Given the description of an element on the screen output the (x, y) to click on. 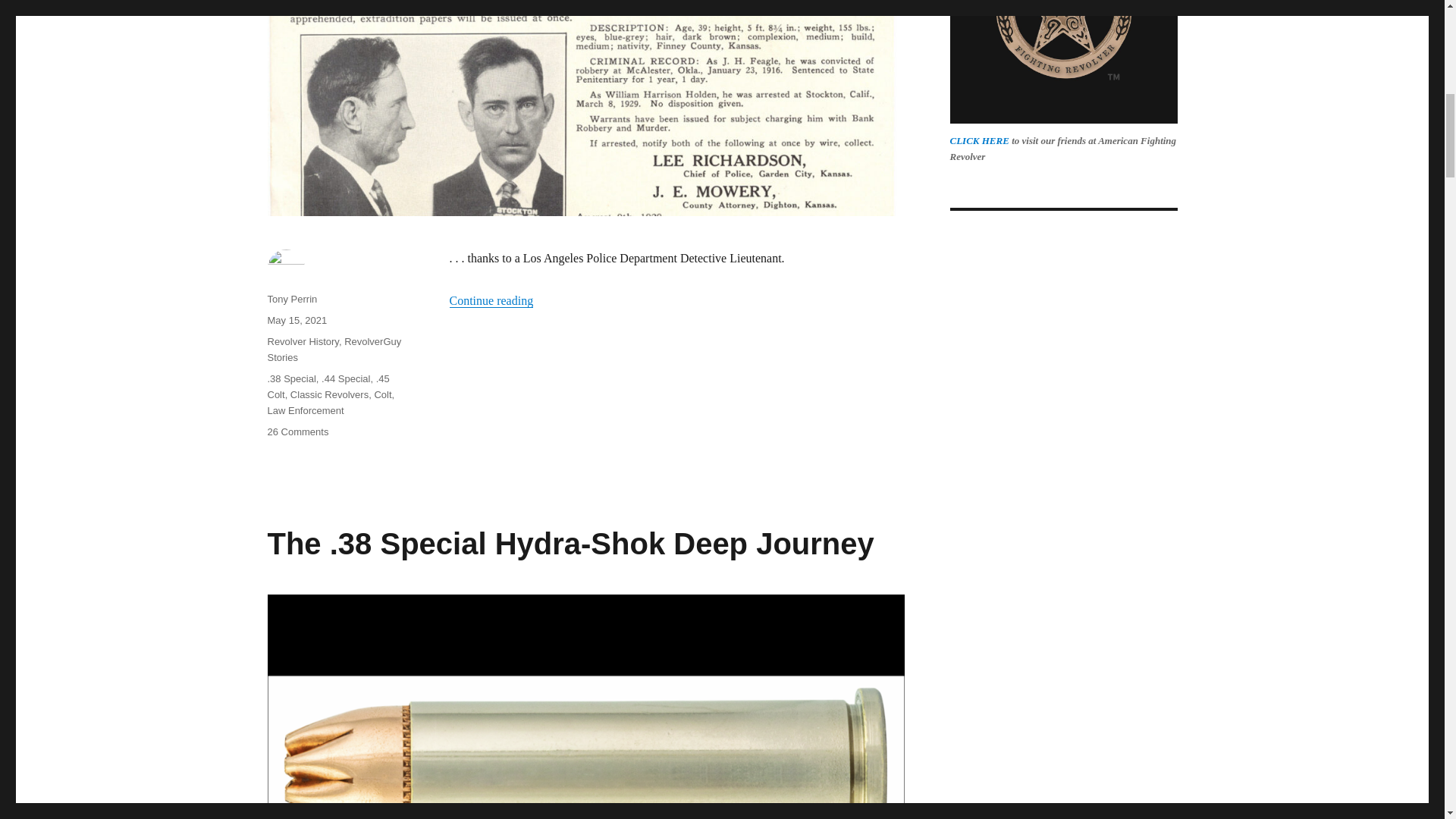
RevolverGuy Stories (333, 349)
Tony Perrin (291, 298)
Colt (382, 394)
Revolver History (301, 341)
.38 Special (290, 378)
Classic Revolvers (328, 394)
Law Enforcement (304, 410)
May 15, 2021 (296, 319)
.45 Colt (327, 386)
